Given the description of an element on the screen output the (x, y) to click on. 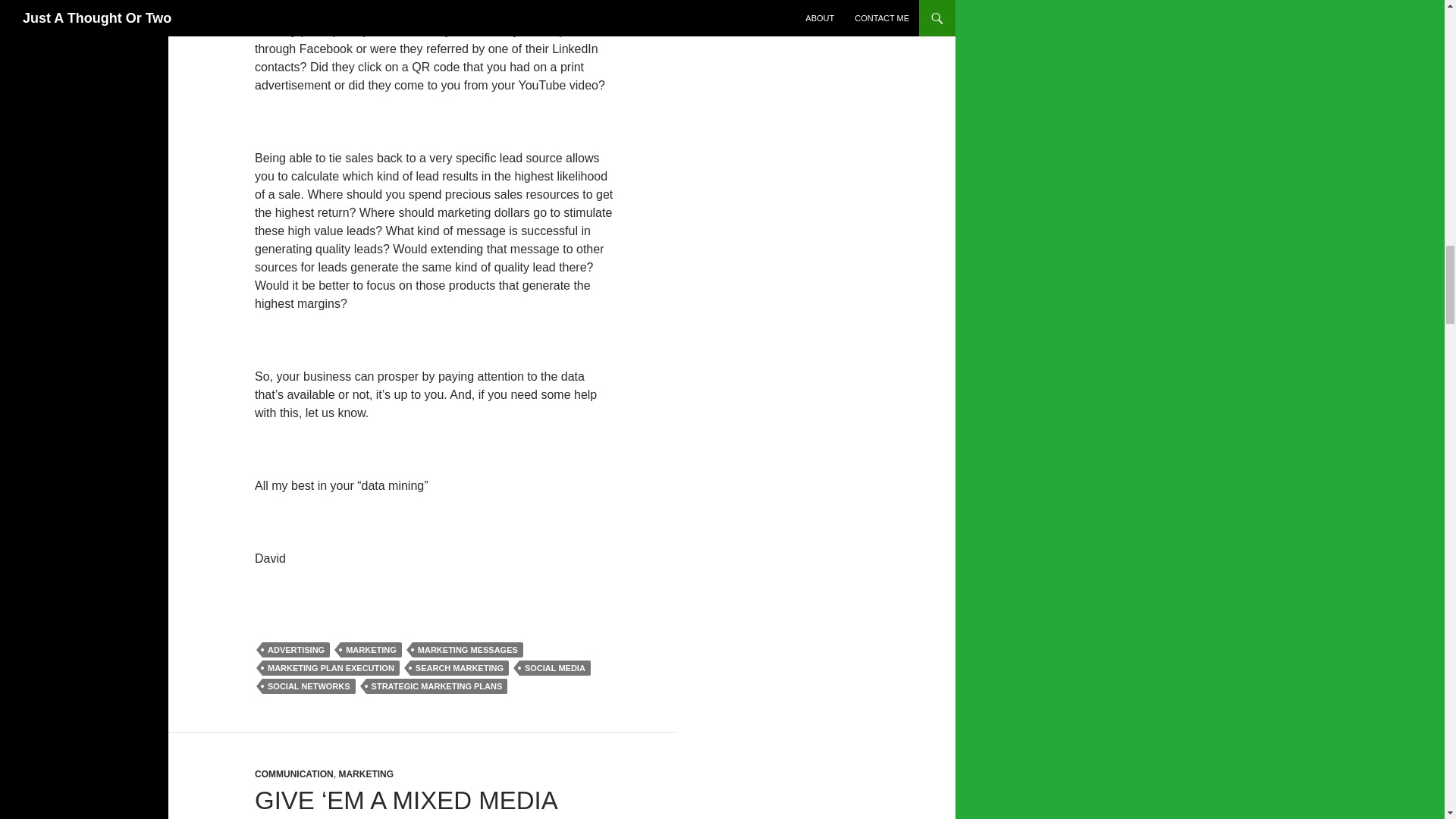
MARKETING MESSAGES (467, 649)
MARKETING (370, 649)
MARKETING PLAN EXECUTION (330, 667)
ADVERTISING (296, 649)
SOCIAL NETWORKS (308, 685)
SEARCH MARKETING (459, 667)
SOCIAL MEDIA (555, 667)
